Given the description of an element on the screen output the (x, y) to click on. 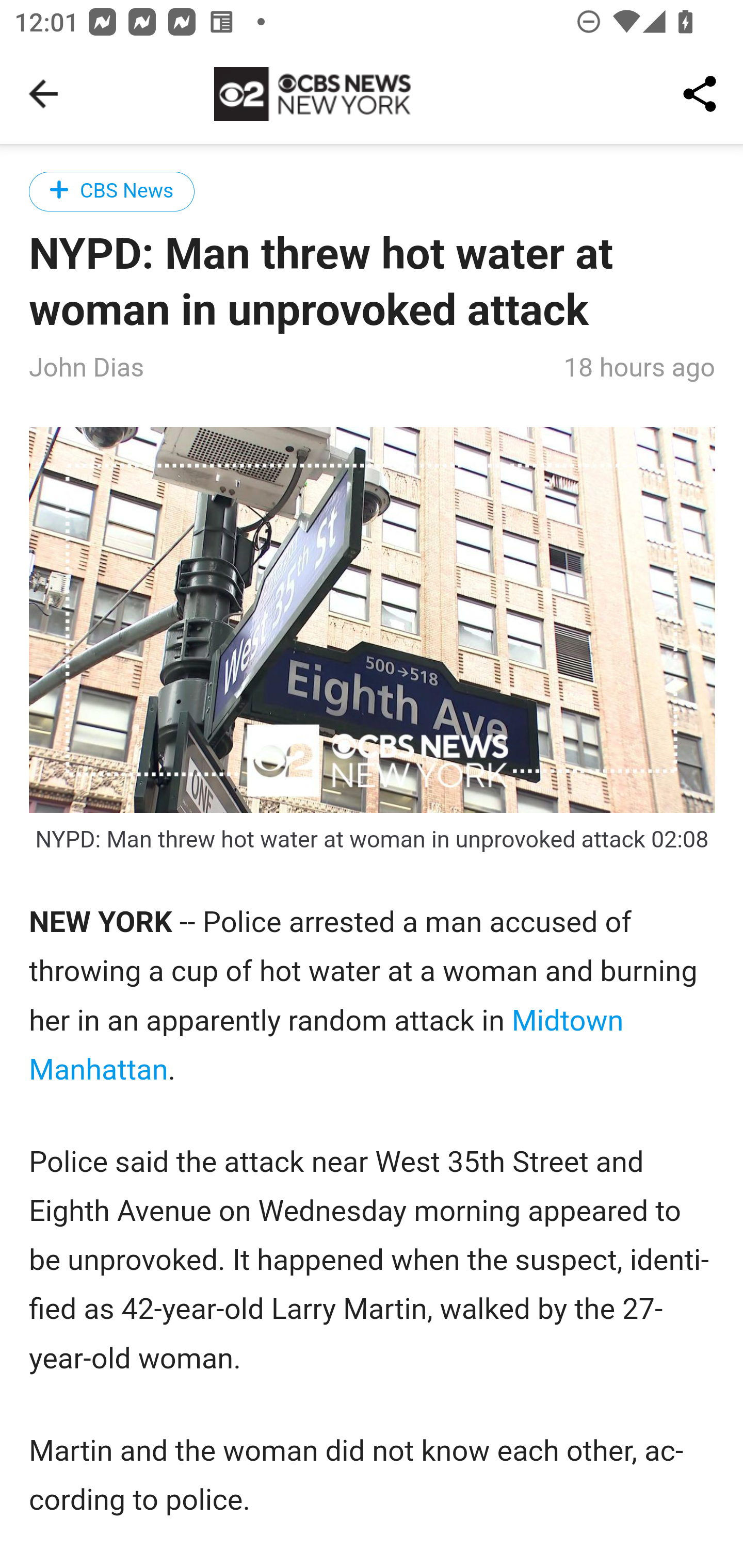
CBS News (112, 191)
5692ce05b28aa257bbb148de583593b3 (372, 619)
Midtown Manhattan (326, 1045)
